Given the description of an element on the screen output the (x, y) to click on. 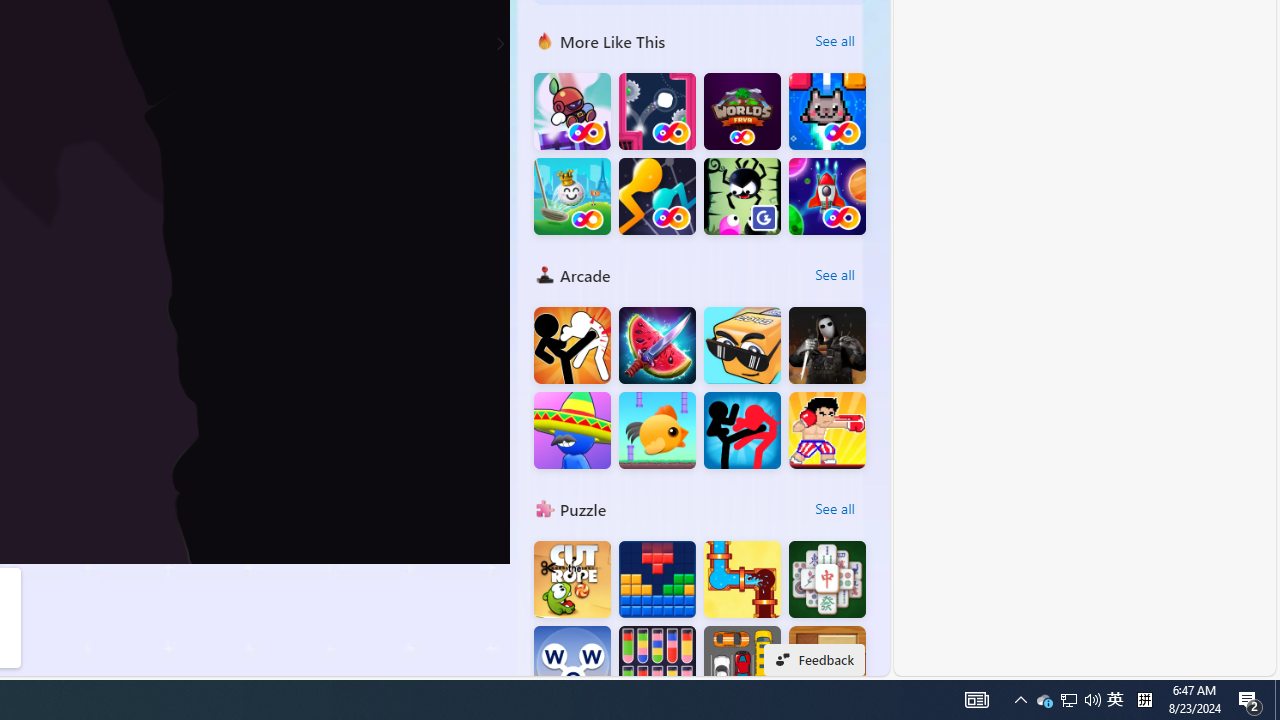
See all (834, 508)
Golf Gardens FRVR (571, 196)
Space Breaker FRVR (827, 196)
Parking Block (742, 664)
Boing FRVR (571, 111)
Wally Jump FRVR (657, 111)
Flappy Chicken (657, 430)
Stickman fighter : Epic battle (742, 430)
Arcade (544, 274)
EXIT : unblock red wood block (827, 664)
Lines FRVR (657, 196)
Puzzle (544, 508)
Fruit Chopper (657, 345)
More Like This (544, 40)
